Given the description of an element on the screen output the (x, y) to click on. 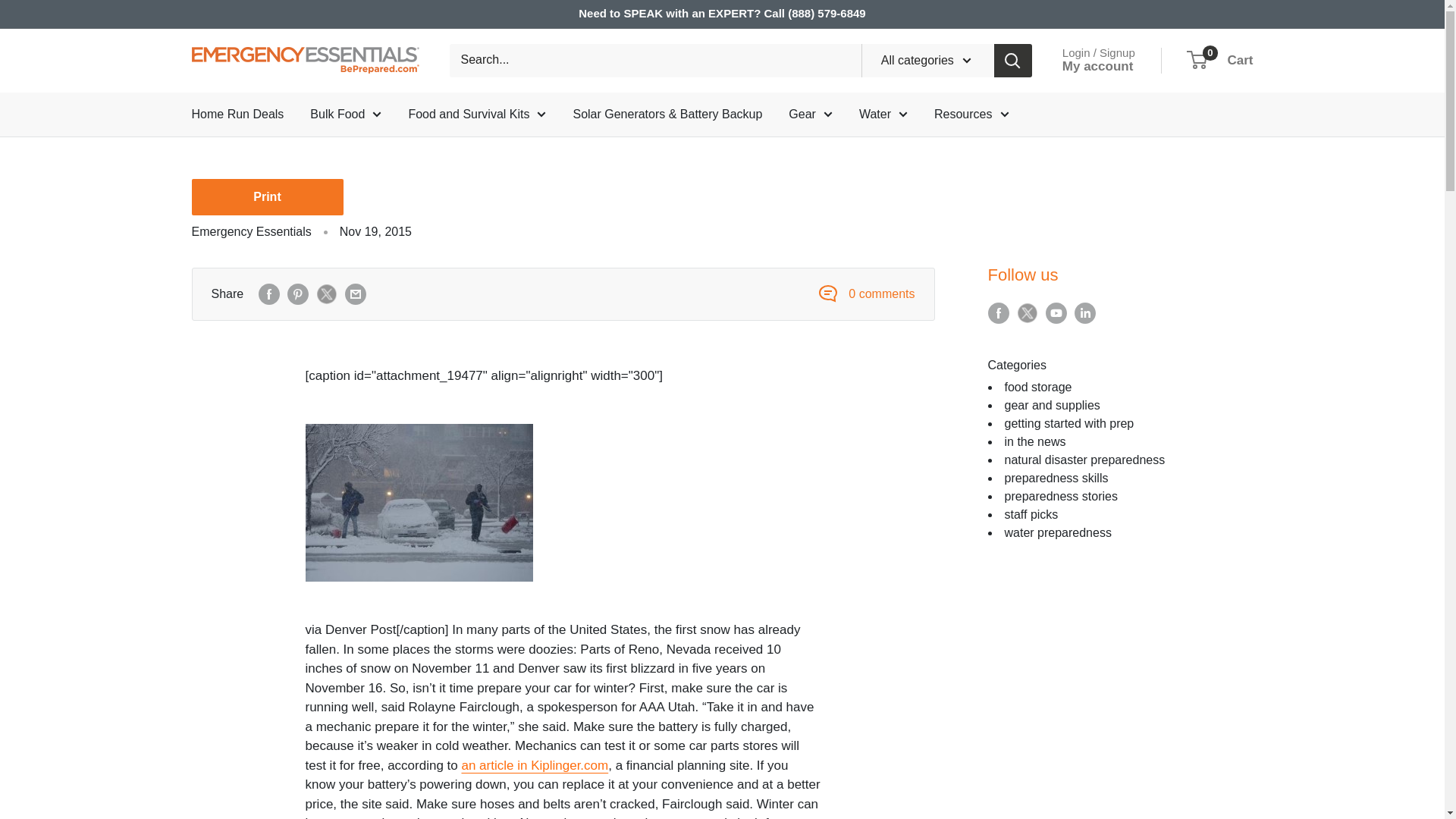
Show articles tagged cat-staff picks (1031, 513)
Show articles tagged cat-gear and supplies (1051, 404)
Show articles tagged cat-preparedness skills (1056, 477)
Show articles tagged cat-natural disaster preparedness (1084, 459)
Show articles tagged cat-preparedness stories (1060, 495)
Search BePrepared.com (654, 60)
Show articles tagged cat-getting started with prep (1069, 422)
Show articles tagged cat-water preparedness (1057, 532)
Show articles tagged cat-in the news (1034, 440)
Show articles tagged cat-food storage (1037, 386)
